Given the description of an element on the screen output the (x, y) to click on. 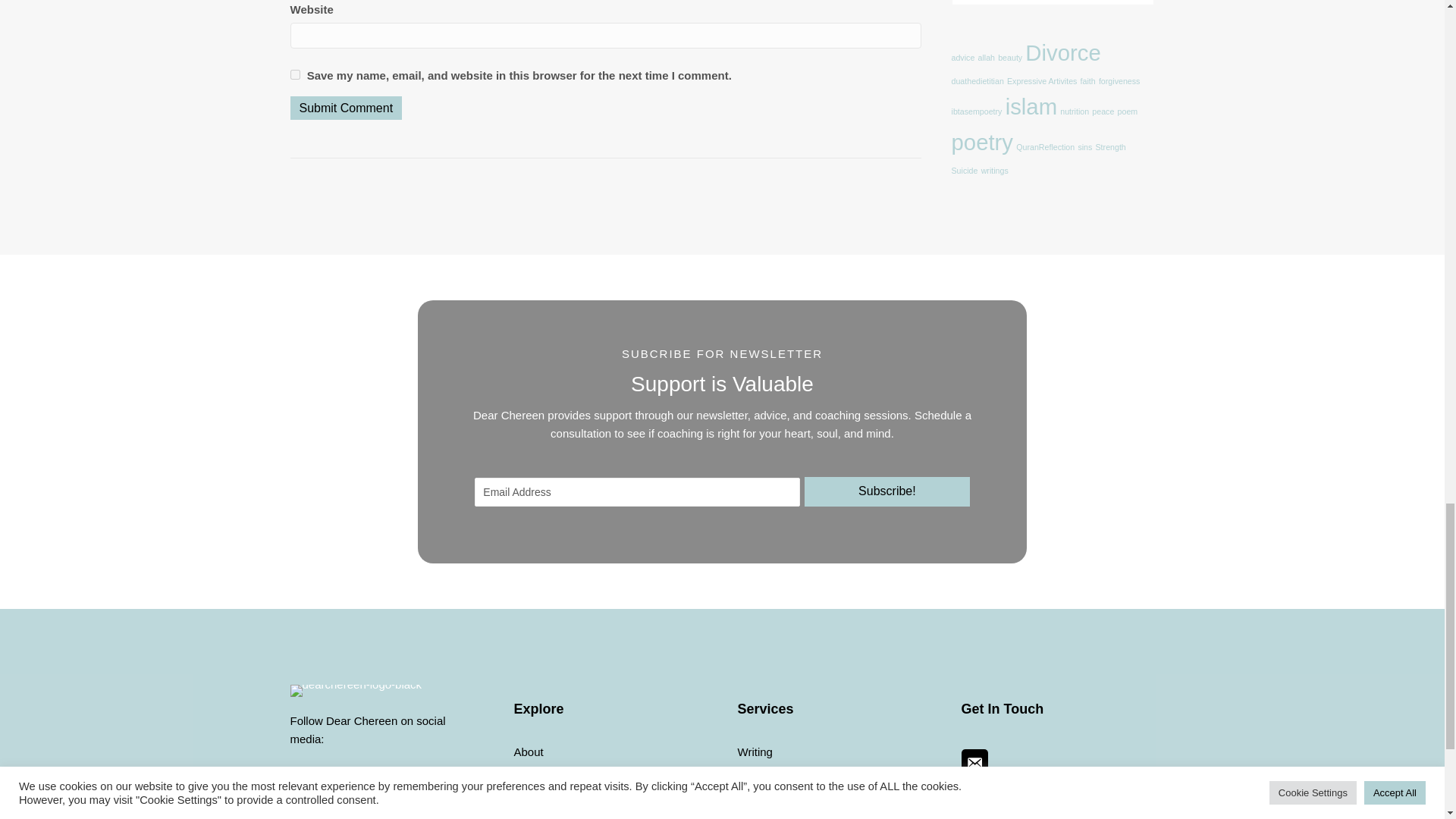
dearchereen-logo-black (355, 690)
Submit Comment (345, 107)
yes (294, 74)
